Given the description of an element on the screen output the (x, y) to click on. 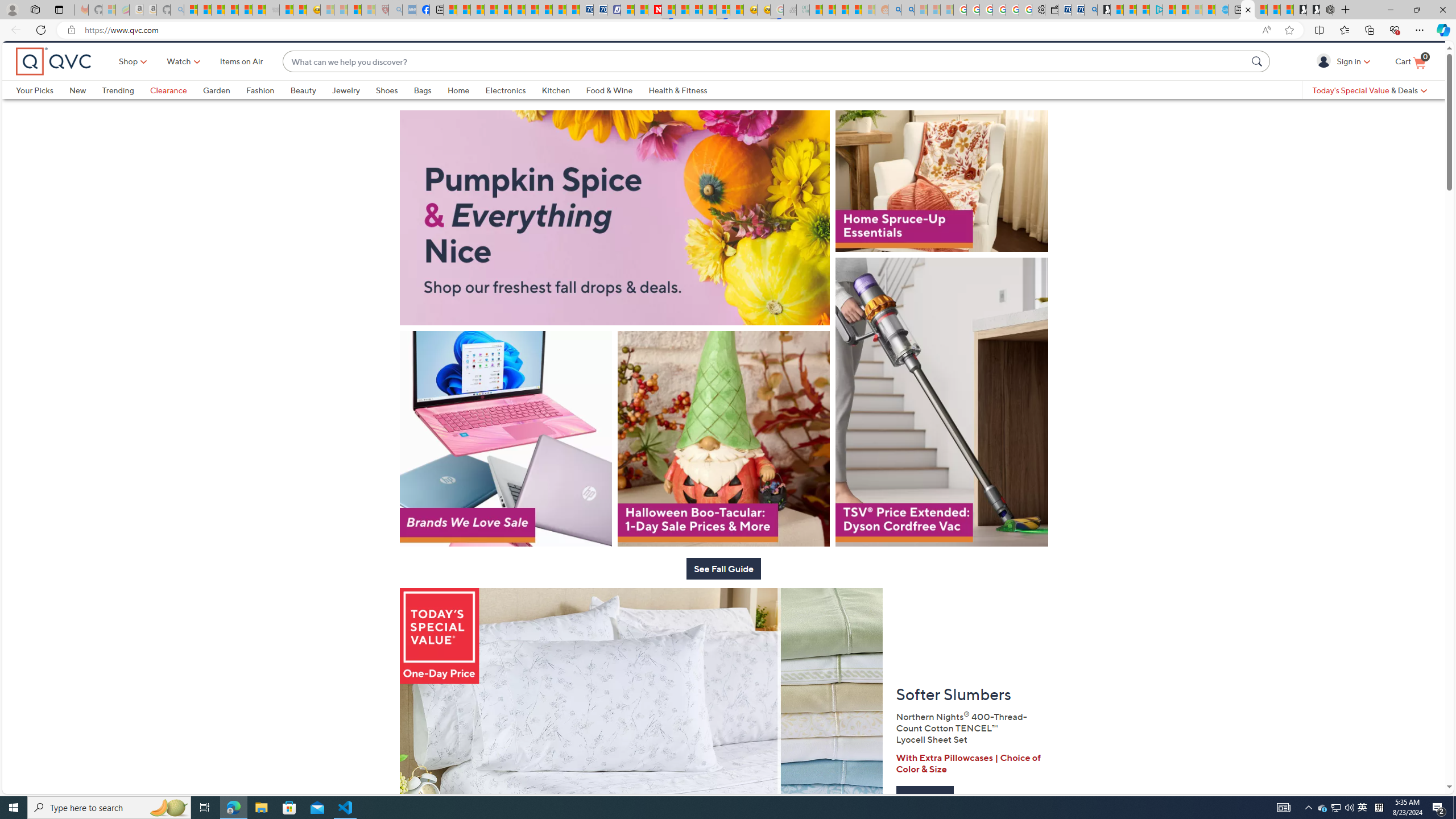
Electronics (512, 109)
12 Popular Science Lies that Must be Corrected - Sleeping (368, 9)
Search Submit (1258, 80)
Combat Siege - Sleeping (271, 9)
Fashion (260, 109)
Health & Fitness (680, 109)
QVC home (53, 80)
